Given the description of an element on the screen output the (x, y) to click on. 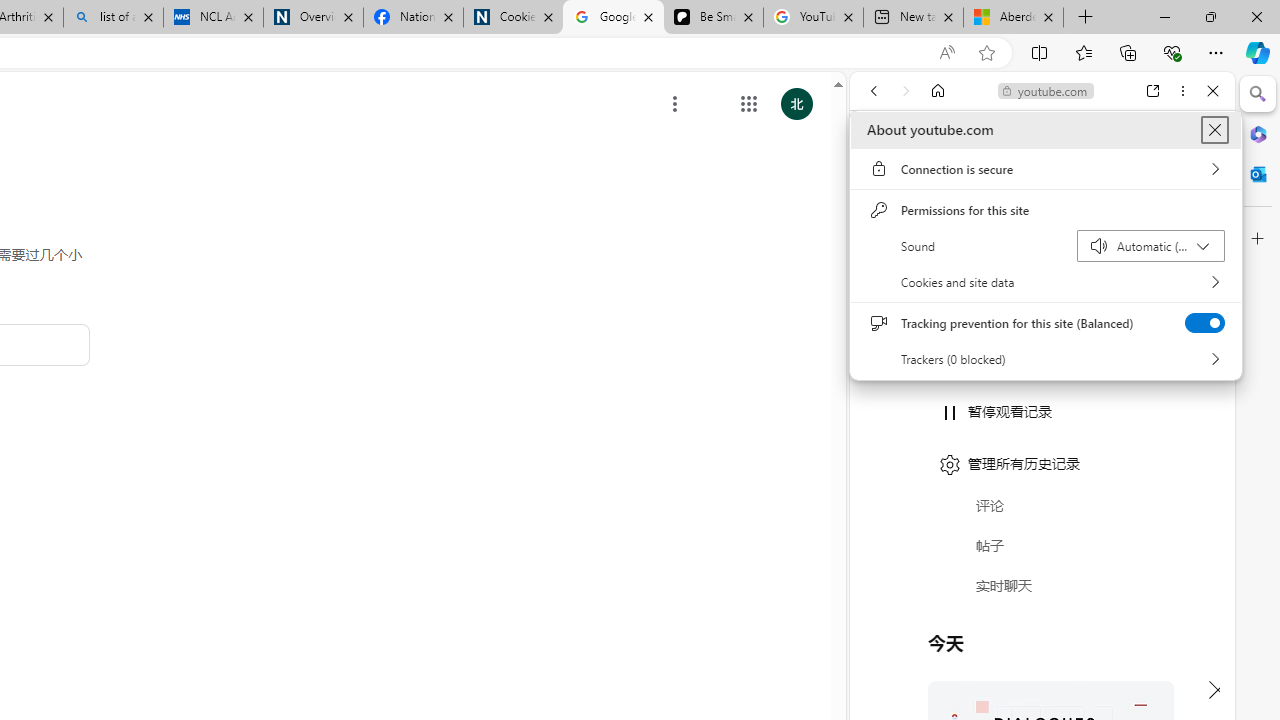
#you (1042, 445)
Trackers (0 blocked) (1046, 359)
Class: gb_E (749, 103)
Class: Xviznc NMm5M (675, 103)
Cookies and site data (1046, 282)
Be Smart | creating Science videos | Patreon (713, 17)
Music (1042, 543)
Aberdeen, Hong Kong SAR hourly forecast | Microsoft Weather (1013, 17)
